Given the description of an element on the screen output the (x, y) to click on. 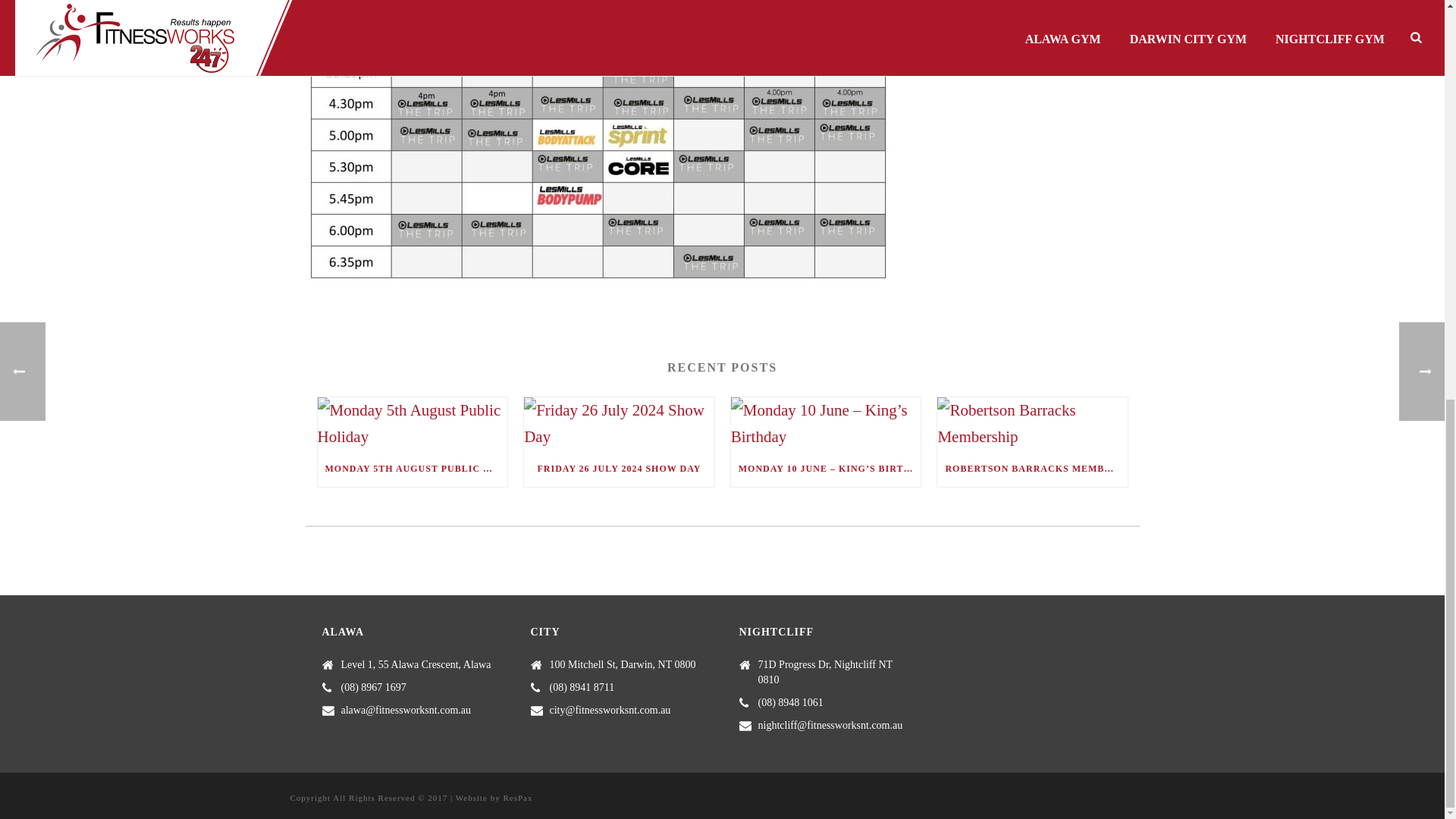
FRIDAY 26 JULY 2024 SHOW DAY (619, 468)
Friday 26 July 2024 Show Day (619, 423)
MONDAY 5TH AUGUST PUBLIC HOLIDAY (411, 468)
Monday 5th August Public Holiday (411, 423)
Robertson Barracks Membership (1031, 423)
ROBERTSON BARRACKS MEMBERSHIP (1031, 468)
